Given the description of an element on the screen output the (x, y) to click on. 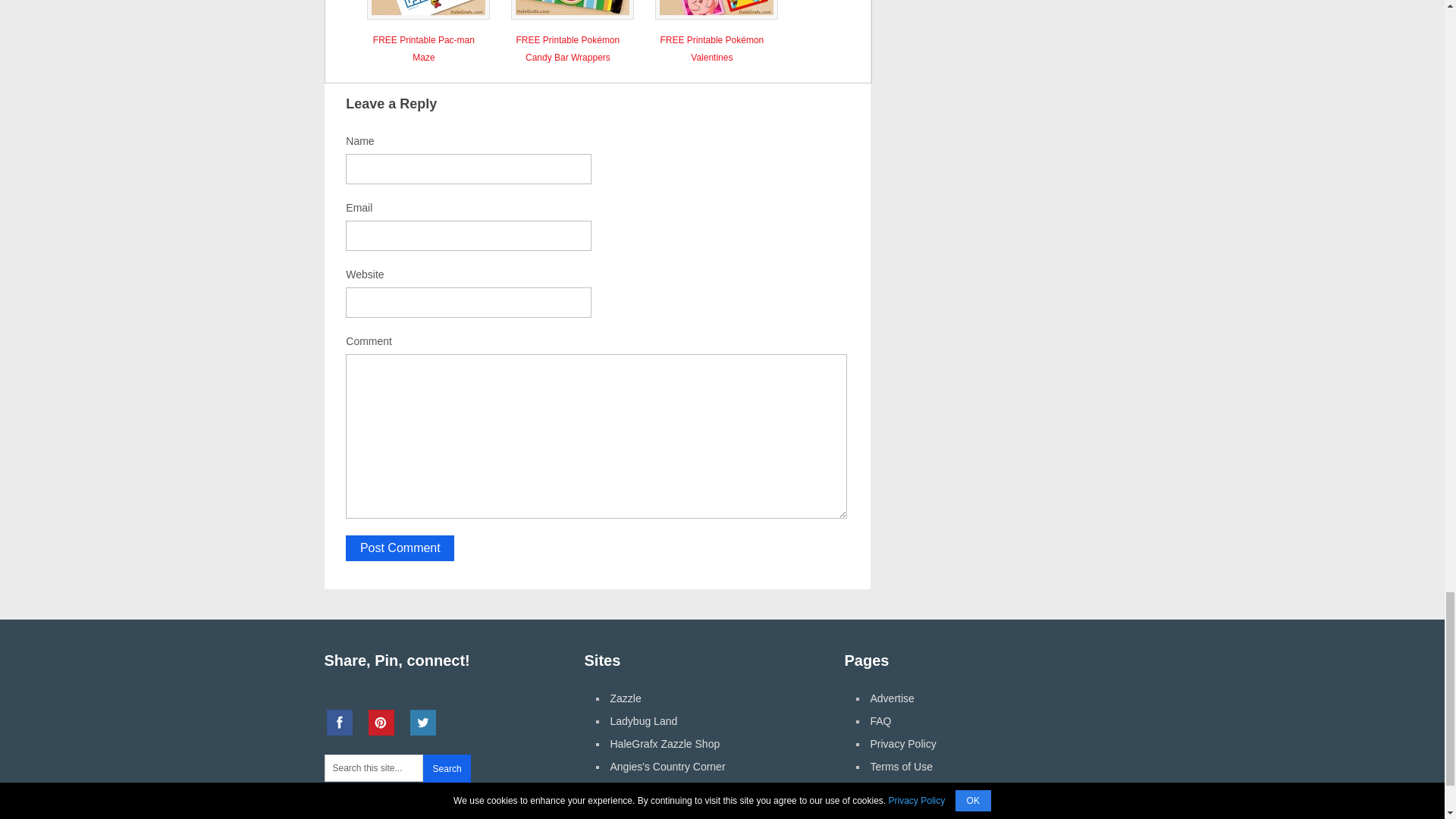
Post Comment (400, 548)
Post Comment (400, 548)
Search (446, 768)
FREE Printable Pac-man Maze (423, 45)
Search this site... (373, 768)
